Given the description of an element on the screen output the (x, y) to click on. 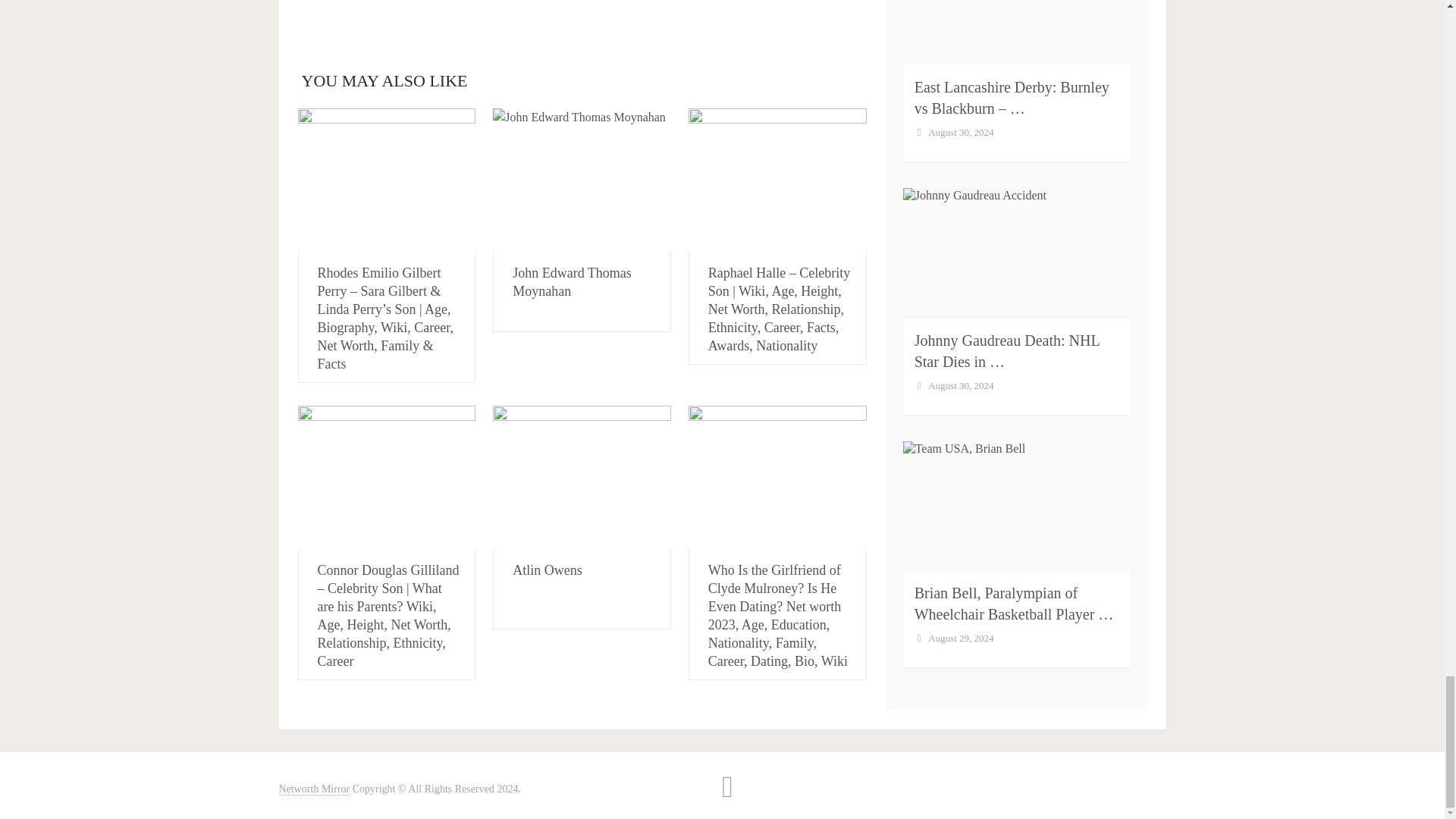
John Edward Thomas Moynahan (571, 281)
Atlin Owens (582, 477)
Atlin Owens (547, 570)
John Edward Thomas Moynahan (582, 180)
